Given the description of an element on the screen output the (x, y) to click on. 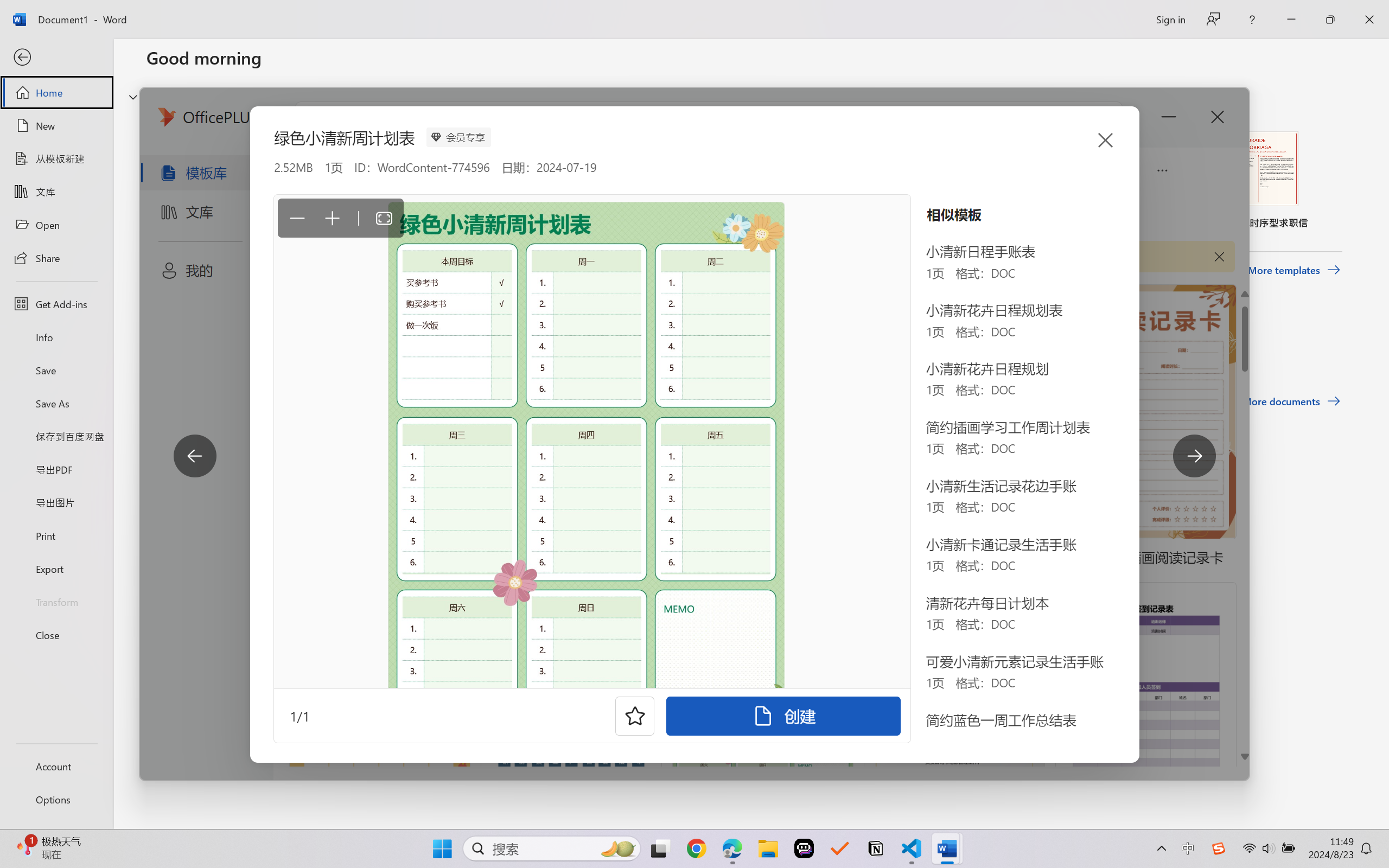
Account (56, 765)
More templates (1293, 270)
Pinned (226, 345)
Print (56, 535)
Info (56, 337)
